Given the description of an element on the screen output the (x, y) to click on. 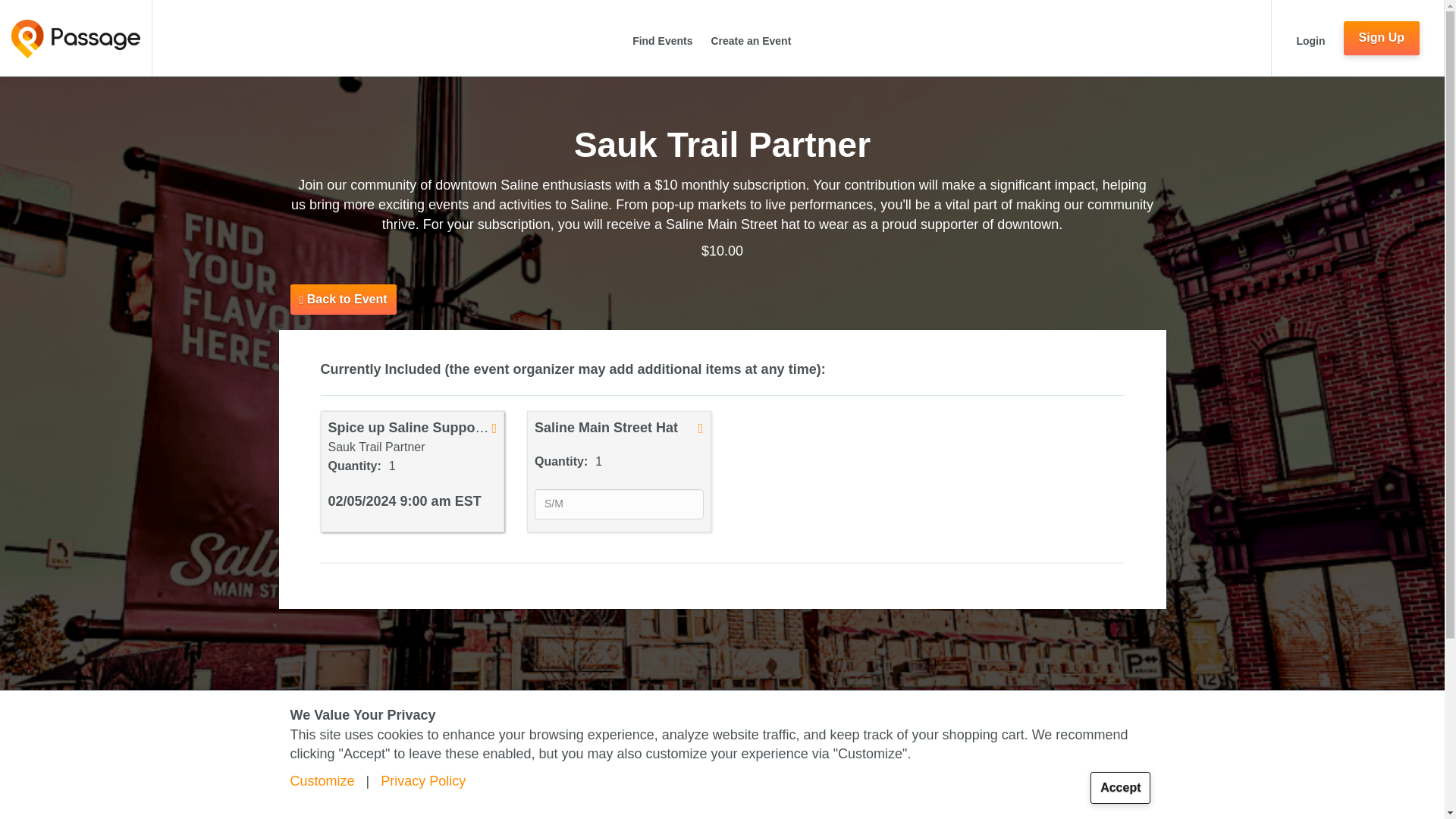
Create an Event (750, 47)
Accept (1120, 787)
Sign Up (1381, 38)
Login (1309, 47)
Back to Event (342, 298)
Find Events (662, 47)
Customize (321, 780)
Privacy Policy (422, 780)
